Given the description of an element on the screen output the (x, y) to click on. 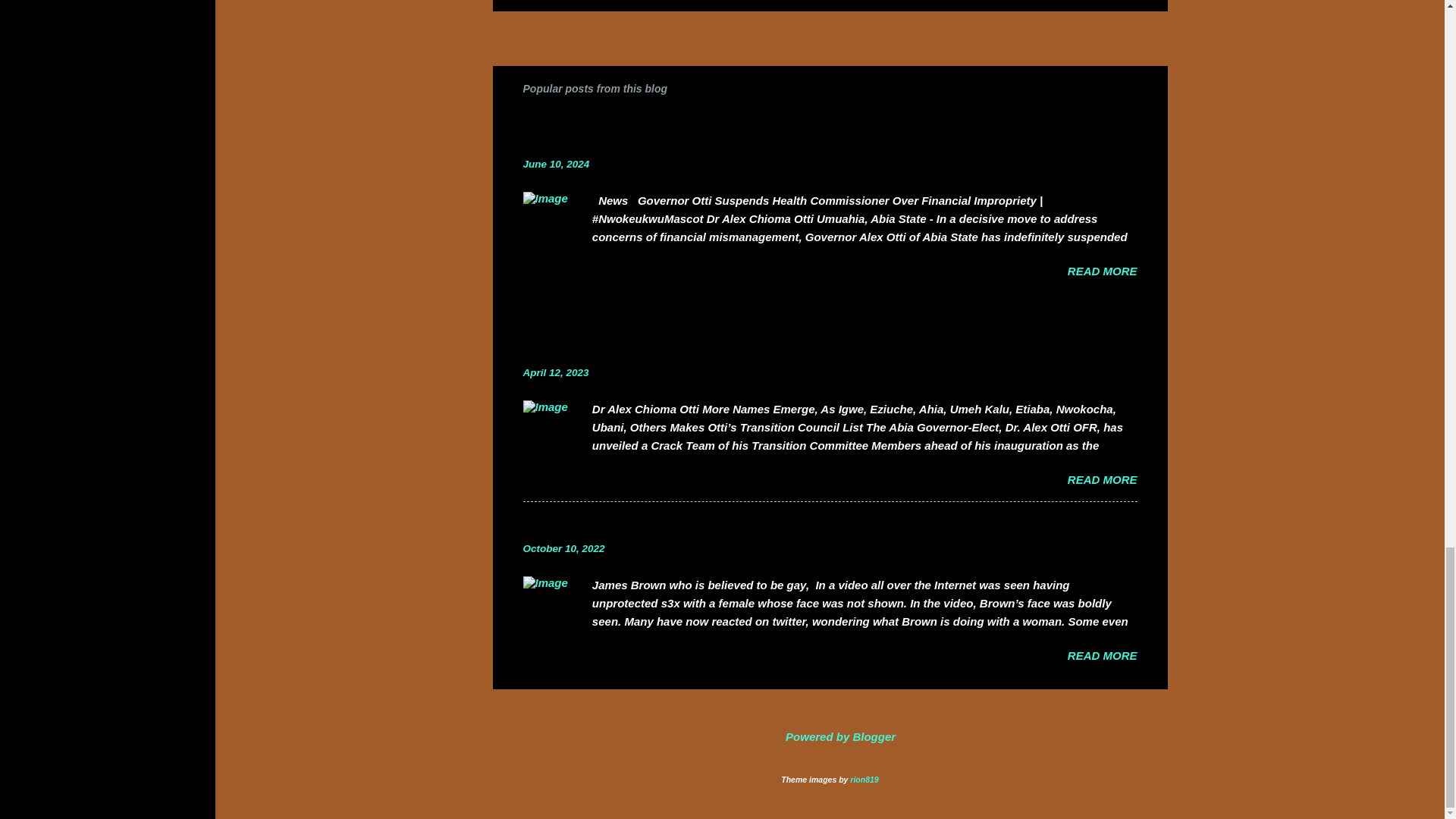
READ MORE (1102, 270)
June 10, 2024 (555, 163)
April 12, 2023 (555, 372)
